Given the description of an element on the screen output the (x, y) to click on. 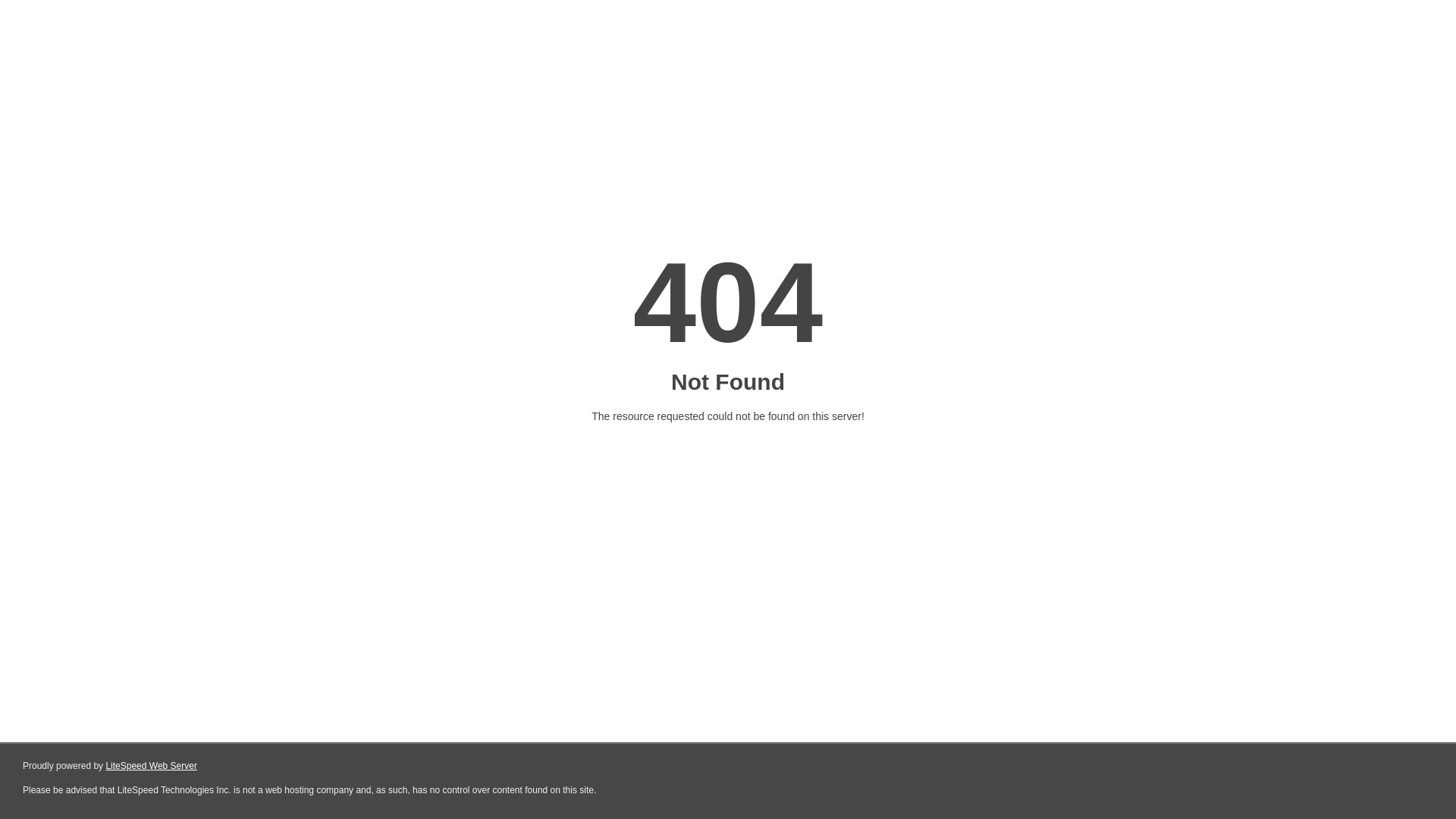
LiteSpeed Web Server Element type: text (151, 765)
